Given the description of an element on the screen output the (x, y) to click on. 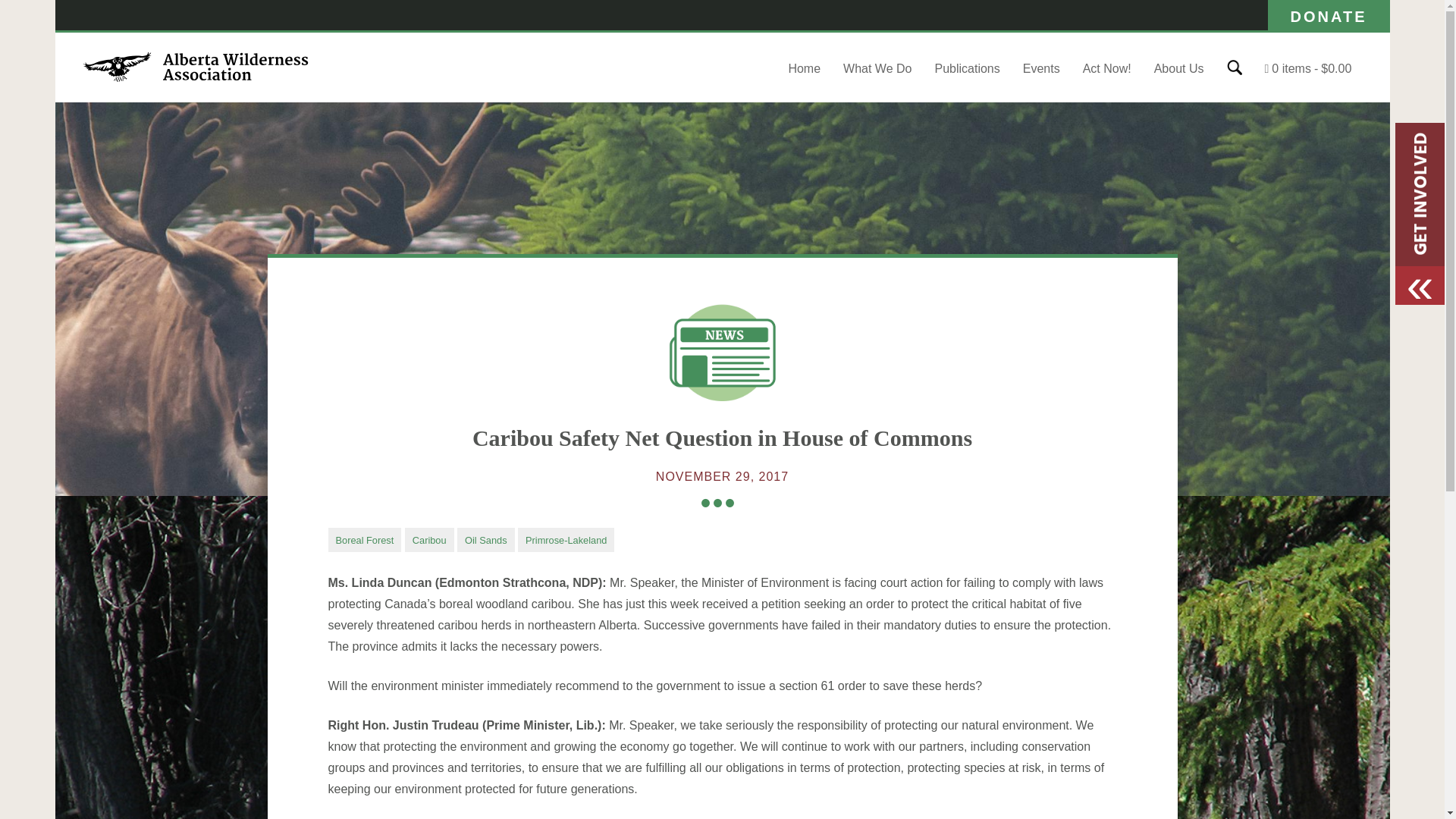
What We Do (877, 68)
DONATE (1329, 15)
Donate (1329, 15)
Start shopping (1308, 68)
AWA Home (194, 78)
